Given the description of an element on the screen output the (x, y) to click on. 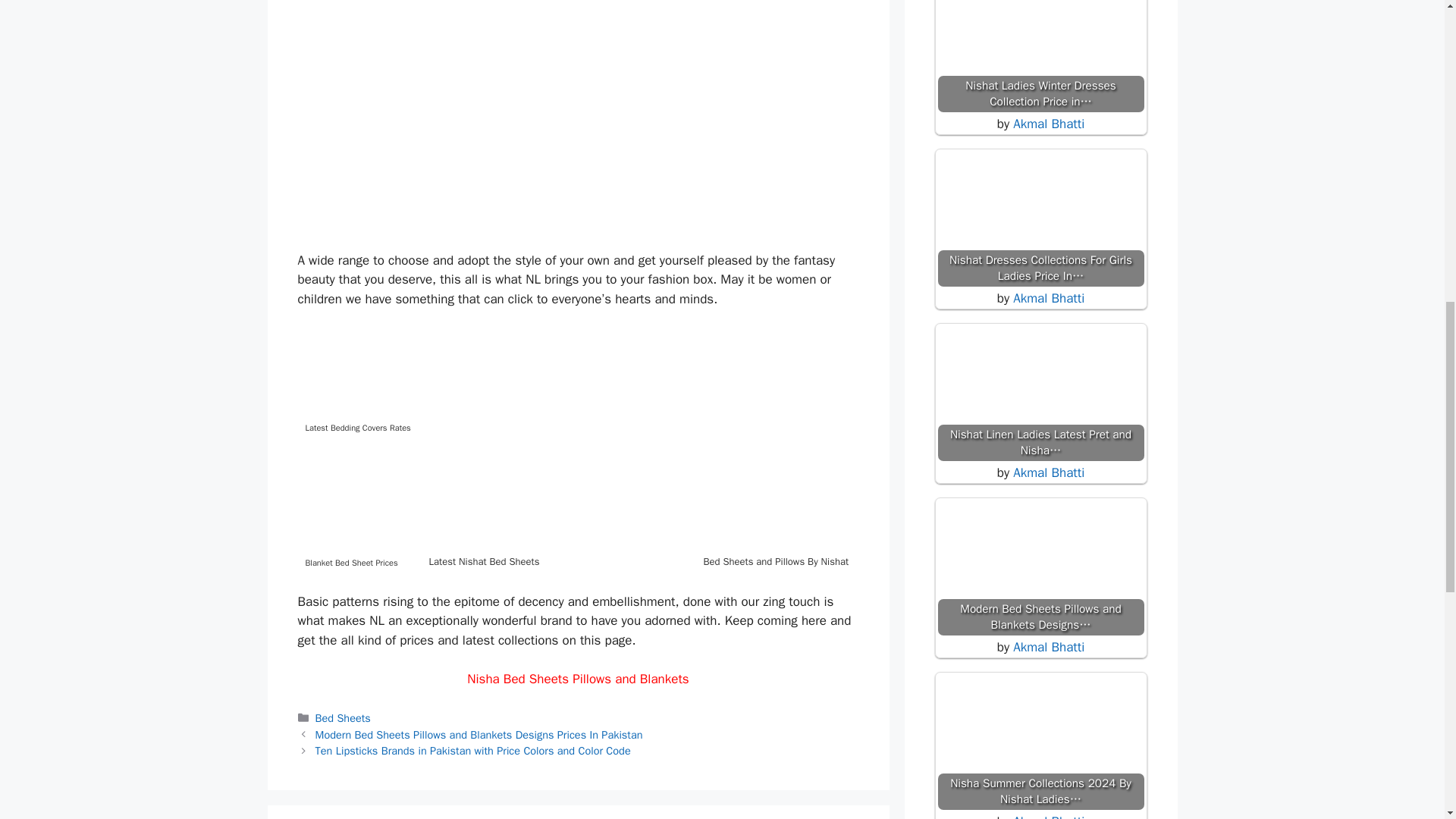
Latest Bedding Covers Rates (358, 385)
Bed Sheets and Pillows By Nishat (837, 452)
Bed Sheets (343, 717)
Blanket Bed Sheet Prices (358, 509)
